Given the description of an element on the screen output the (x, y) to click on. 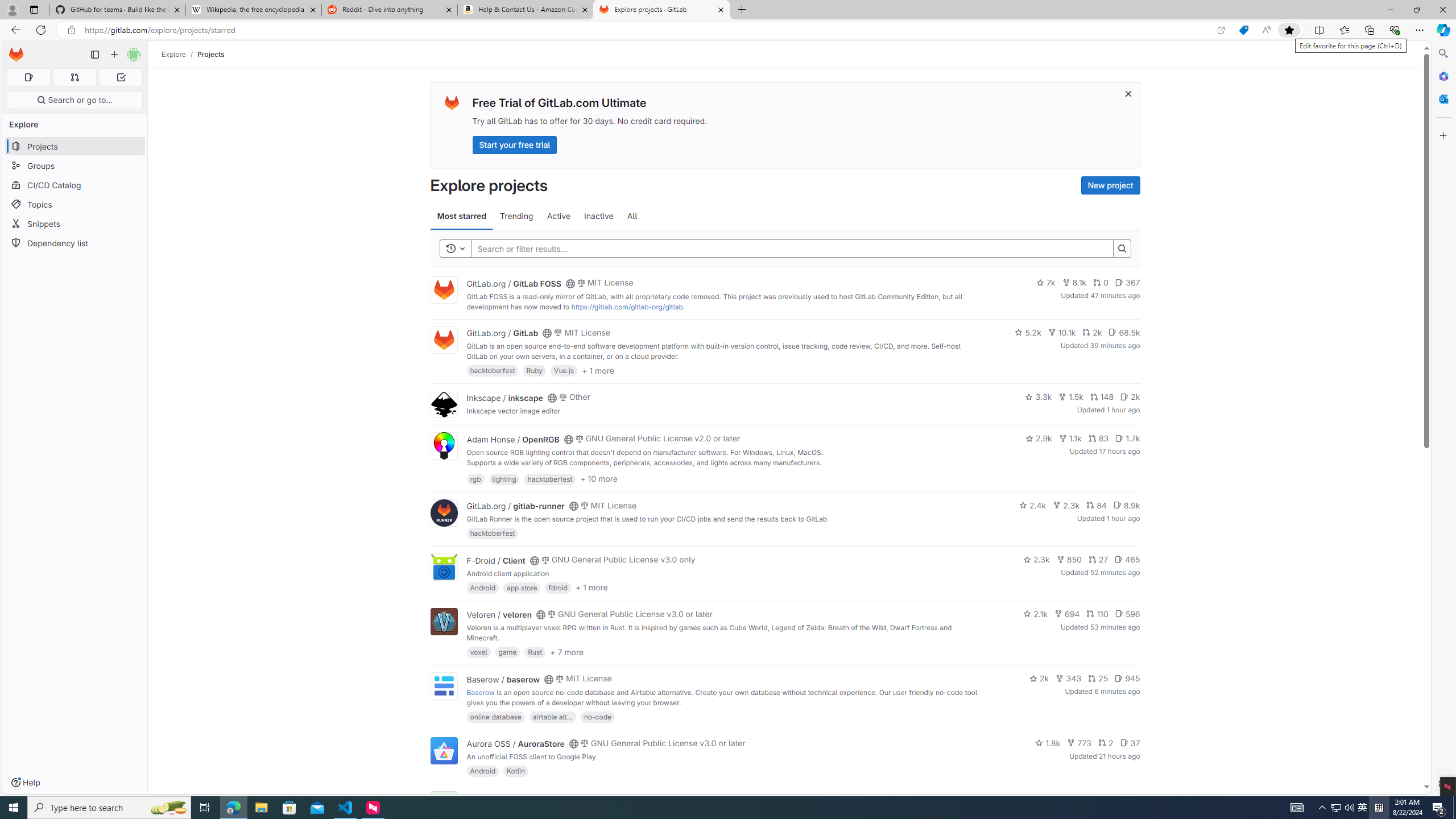
Class: s16 gl-icon gl-button-icon  (1127, 93)
694 (1067, 613)
Inkscape / inkscape (504, 397)
Open in app (1220, 29)
GitLab.org / GitLab (501, 333)
2.4k (1032, 504)
25 (1097, 678)
Ruby (533, 370)
hacktoberfest (492, 533)
Create new... (113, 54)
1.7k (1127, 438)
